Given the description of an element on the screen output the (x, y) to click on. 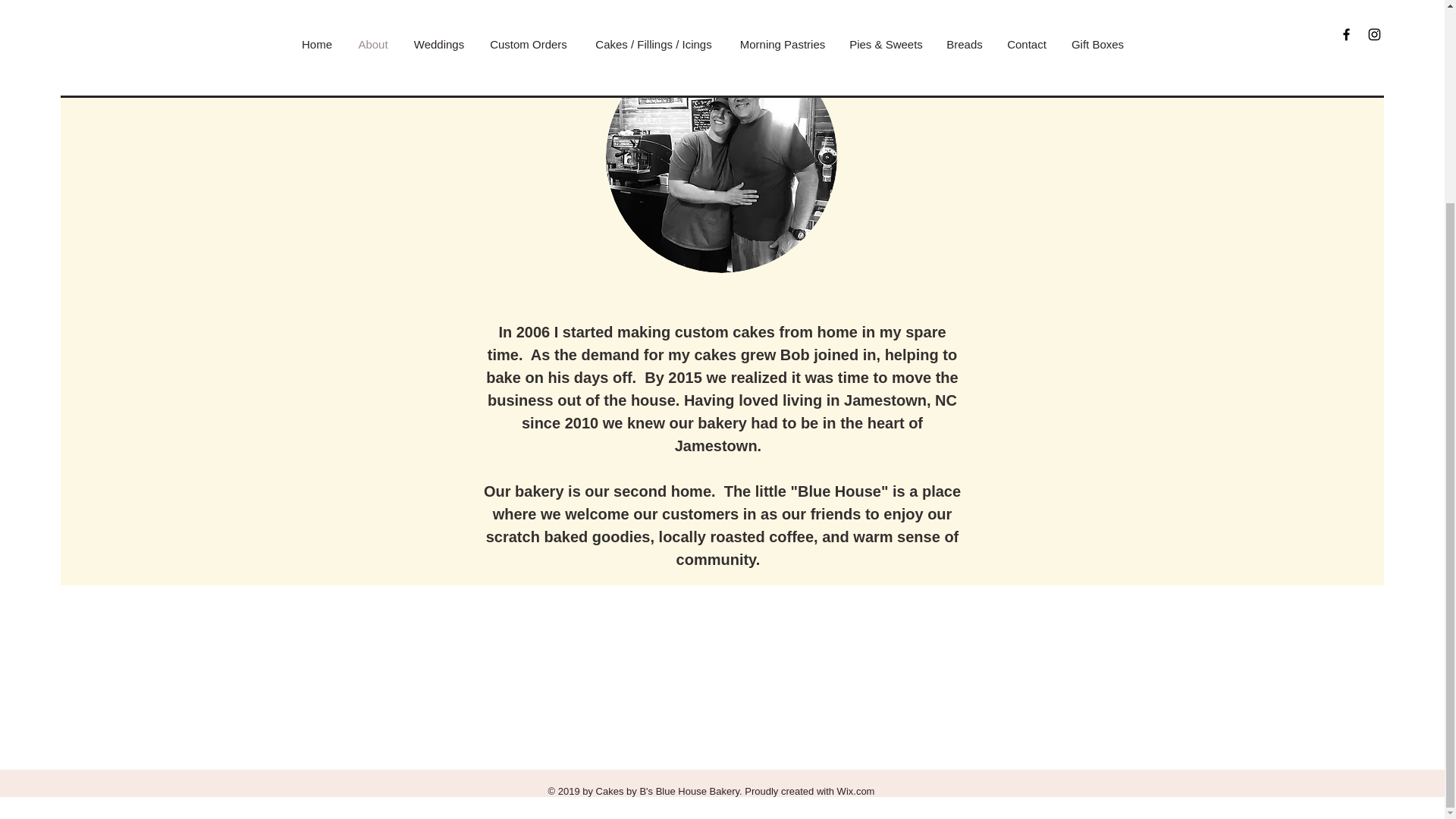
Wix.com (856, 790)
